Given the description of an element on the screen output the (x, y) to click on. 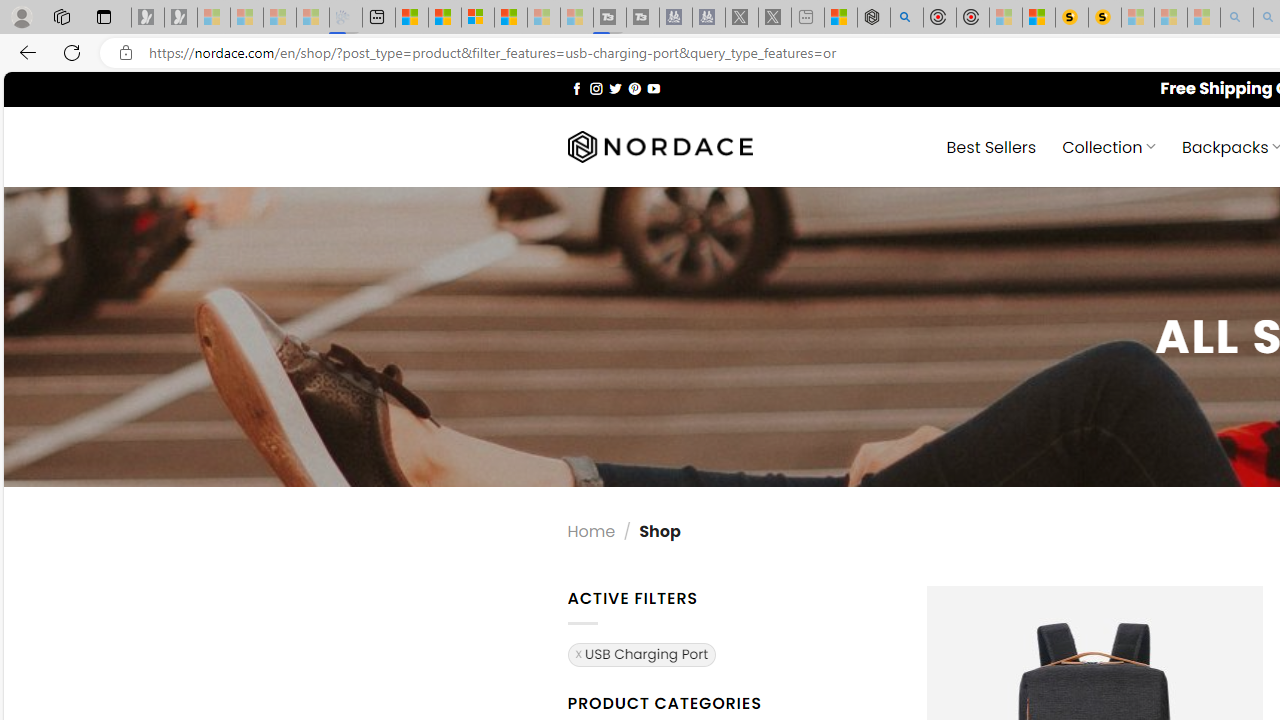
Nordace (659, 147)
